Given the description of an element on the screen output the (x, y) to click on. 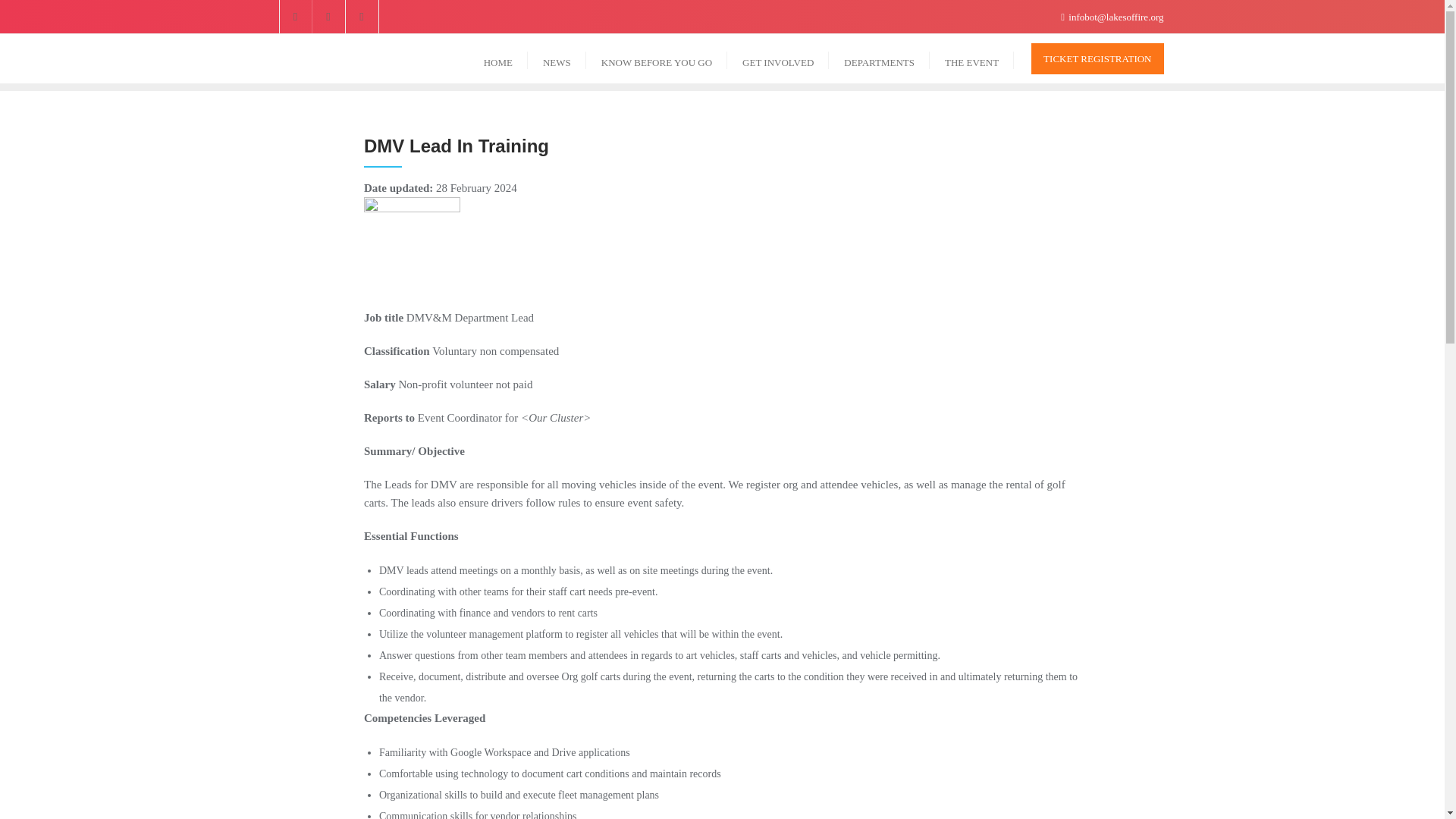
NEWS (556, 58)
DEPARTMENTS (879, 58)
GET INVOLVED (777, 58)
KNOW BEFORE YOU GO (656, 58)
HOME (497, 58)
